Given the description of an element on the screen output the (x, y) to click on. 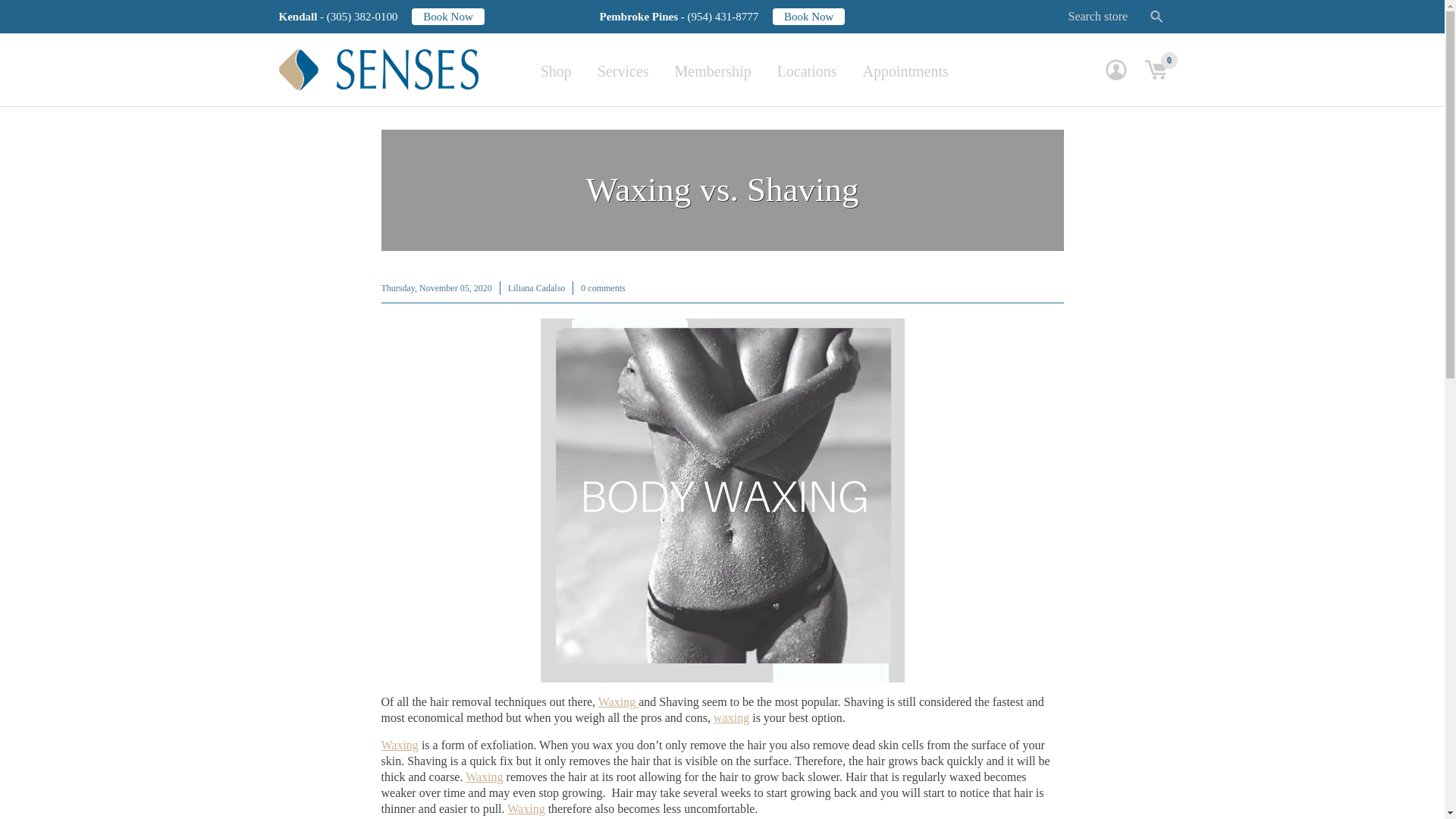
Services (622, 71)
My account (1115, 69)
Book Now (808, 15)
waxing (731, 717)
Appointments (906, 71)
Waxing (398, 744)
Membership (713, 71)
Waxing (525, 808)
Waxing (618, 701)
Waxing (483, 776)
Shop (556, 71)
0 (1155, 69)
Book Now (447, 15)
Locations (807, 71)
